Given the description of an element on the screen output the (x, y) to click on. 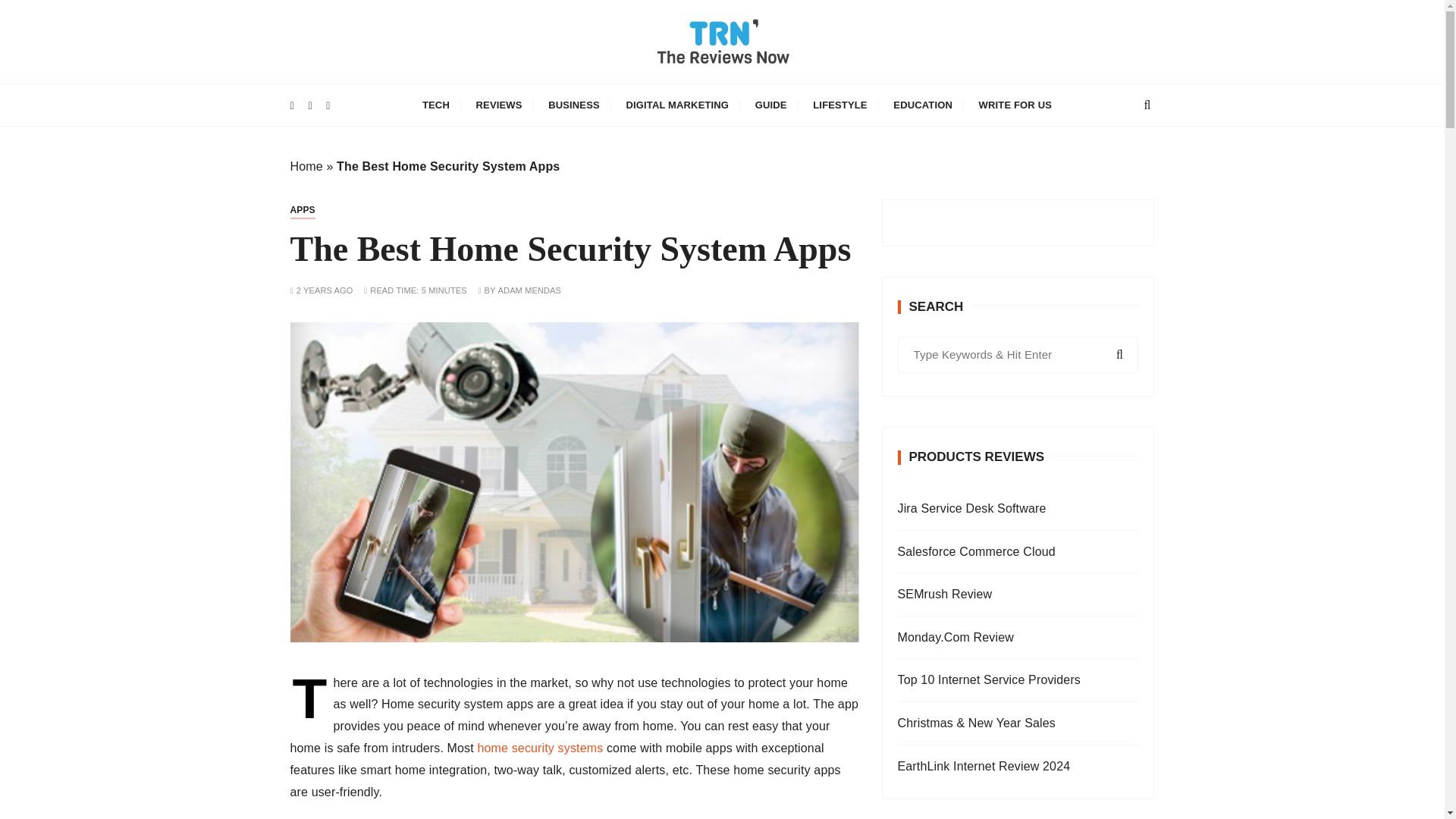
GUIDE (770, 105)
BUSINESS (574, 105)
Home (305, 165)
home security systems (539, 748)
DIGITAL MARKETING (676, 105)
EDUCATION (922, 105)
WRITE FOR US (1015, 105)
ADAM MENDAS (529, 290)
LIFESTYLE (839, 105)
TECH (435, 105)
